Given the description of an element on the screen output the (x, y) to click on. 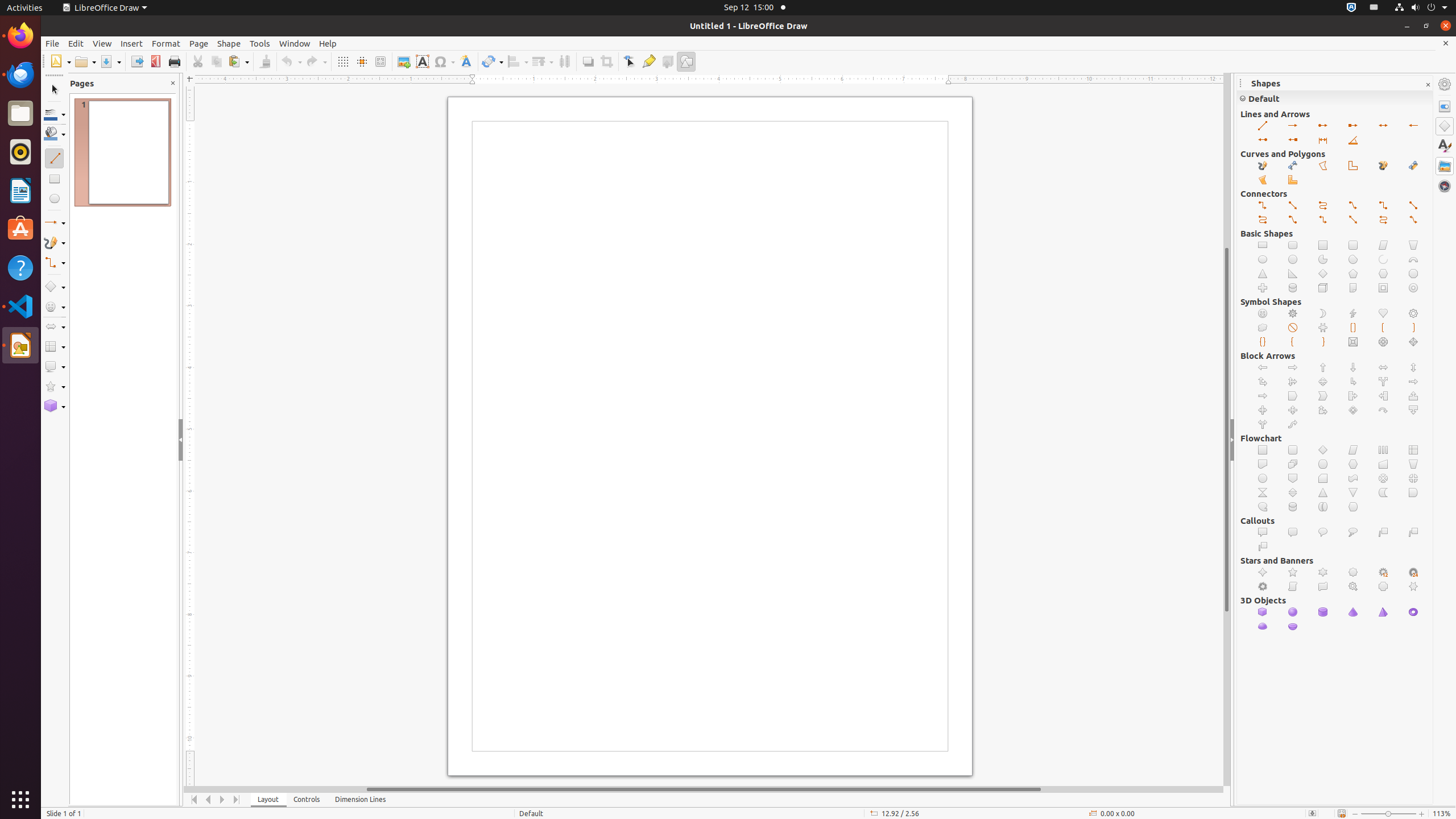
Moon Element type: list-item (1323, 313)
Straight Connector with Arrows Element type: list-item (1353, 219)
Flowchart: Sequential Access Element type: list-item (1262, 506)
Polygon (45°), Filled Element type: list-item (1292, 179)
Straight Connector Element type: list-item (1413, 205)
